Given the description of an element on the screen output the (x, y) to click on. 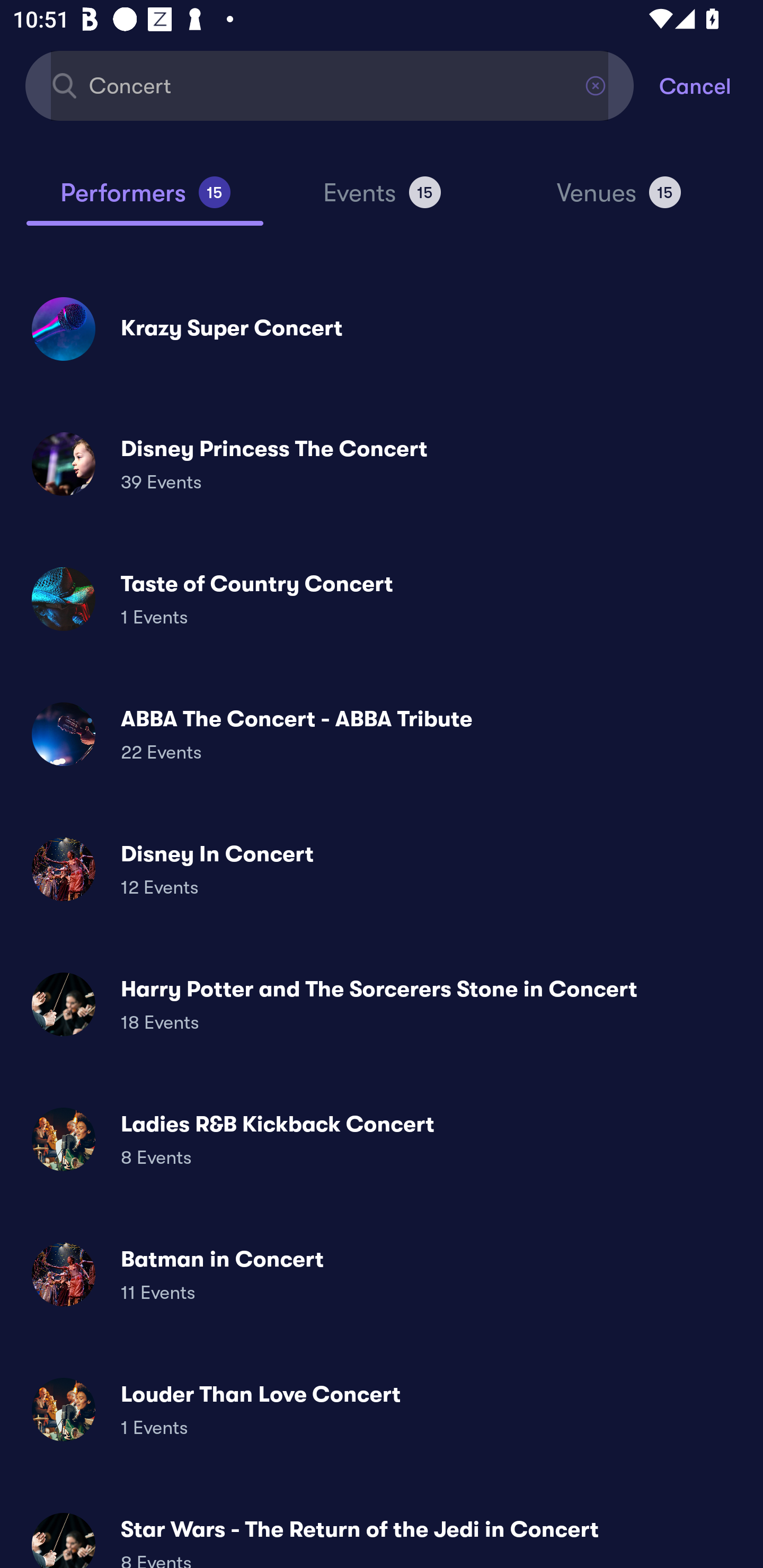
Concert Find (329, 85)
Concert Find (329, 85)
Cancel (711, 85)
Performers 15 (144, 200)
Events 15 (381, 200)
Venues 15 (618, 200)
Krazy Super Concert (381, 328)
Disney Princess The Concert 39 Events (381, 464)
Taste of Country Concert 1 Events (381, 598)
ABBA The Concert - ABBA Tribute 22 Events (381, 734)
Disney In Concert 12 Events (381, 869)
Ladies R&B Kickback Concert 8 Events (381, 1138)
Batman in Concert 11 Events (381, 1273)
Louder Than Love Concert 1 Events (381, 1409)
